Given the description of an element on the screen output the (x, y) to click on. 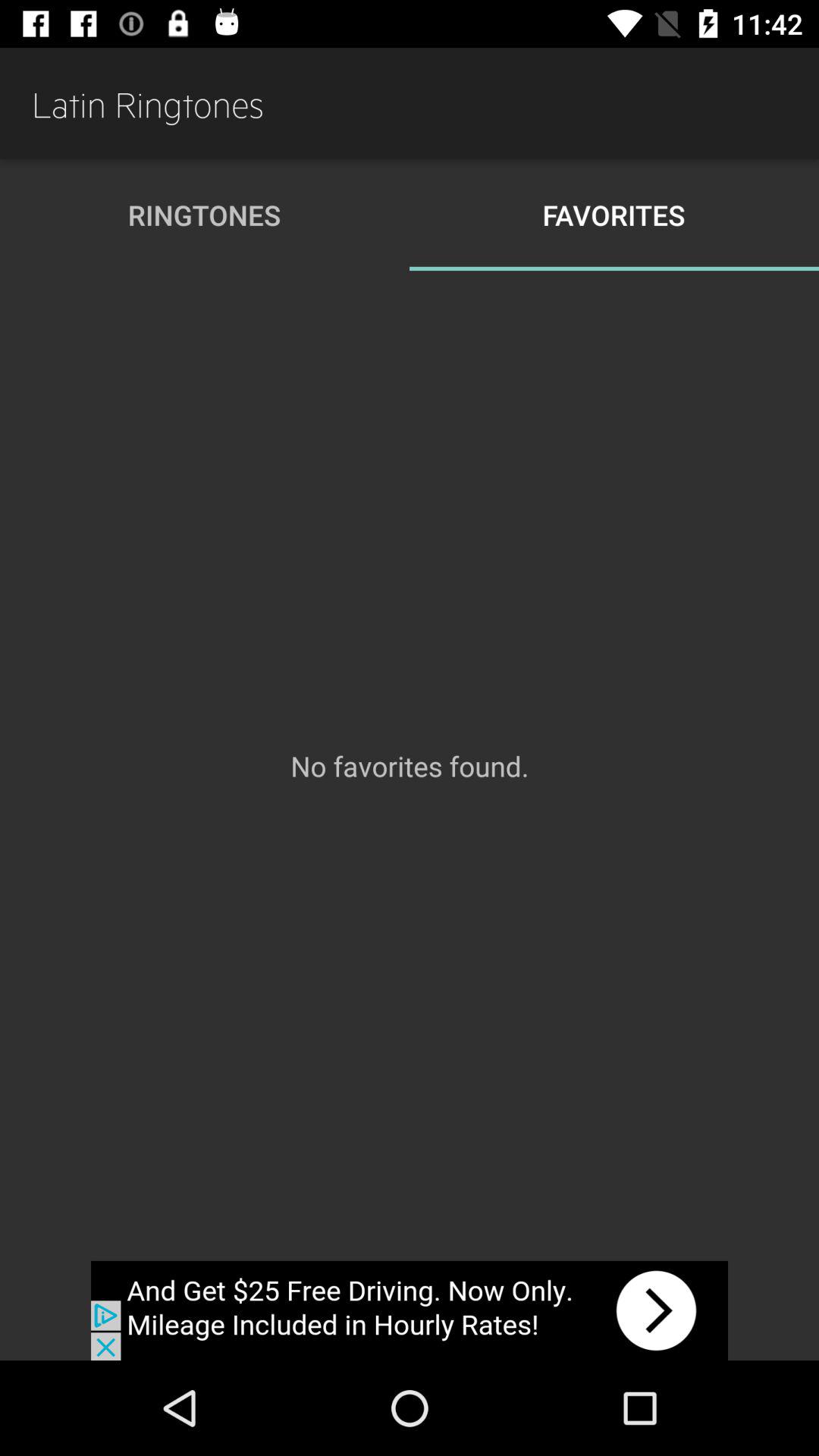
open advertisement (409, 1310)
